Given the description of an element on the screen output the (x, y) to click on. 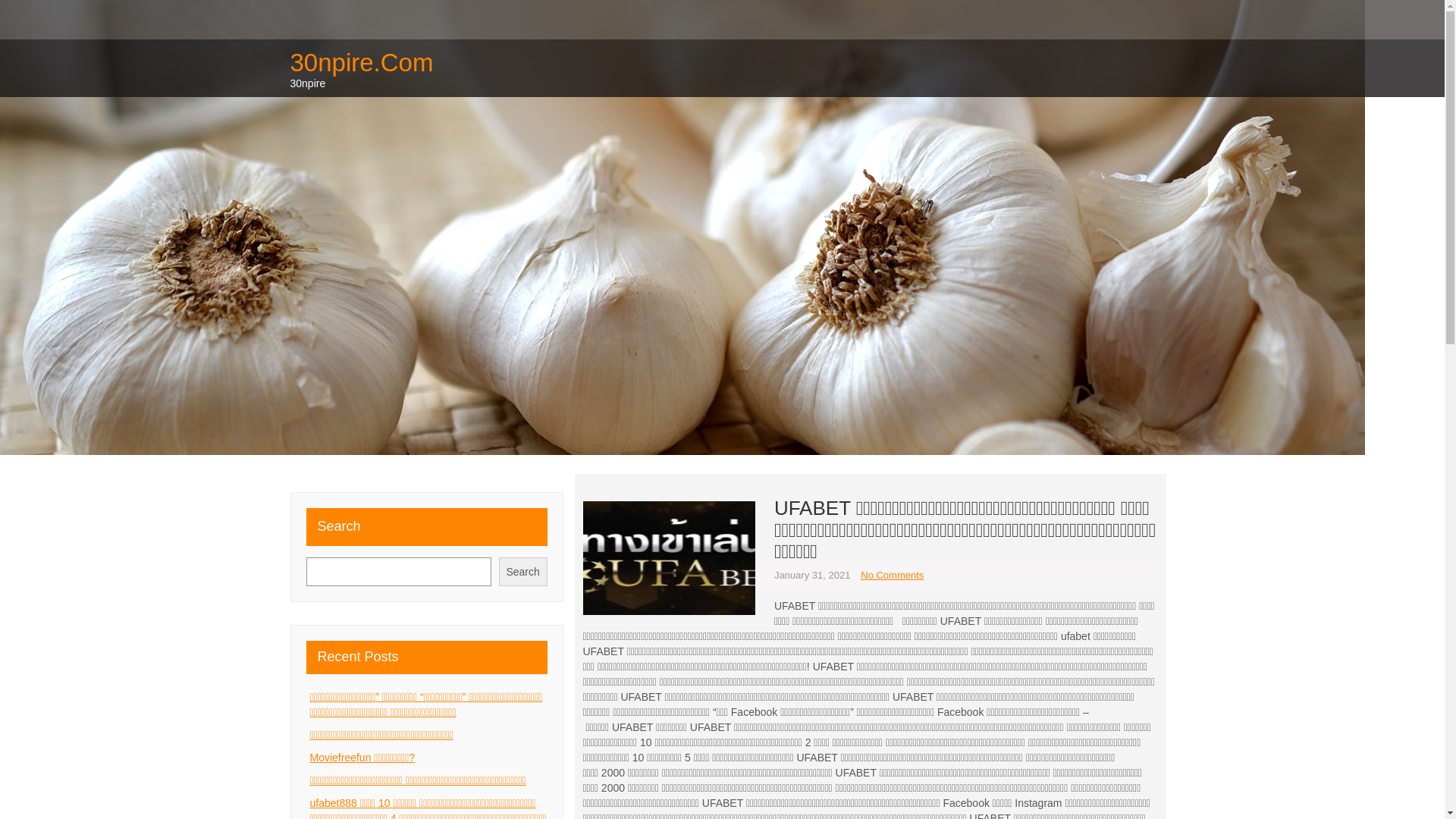
Search Element type: text (522, 571)
No Comments Element type: text (891, 574)
30npire.Com Element type: text (361, 62)
